Given the description of an element on the screen output the (x, y) to click on. 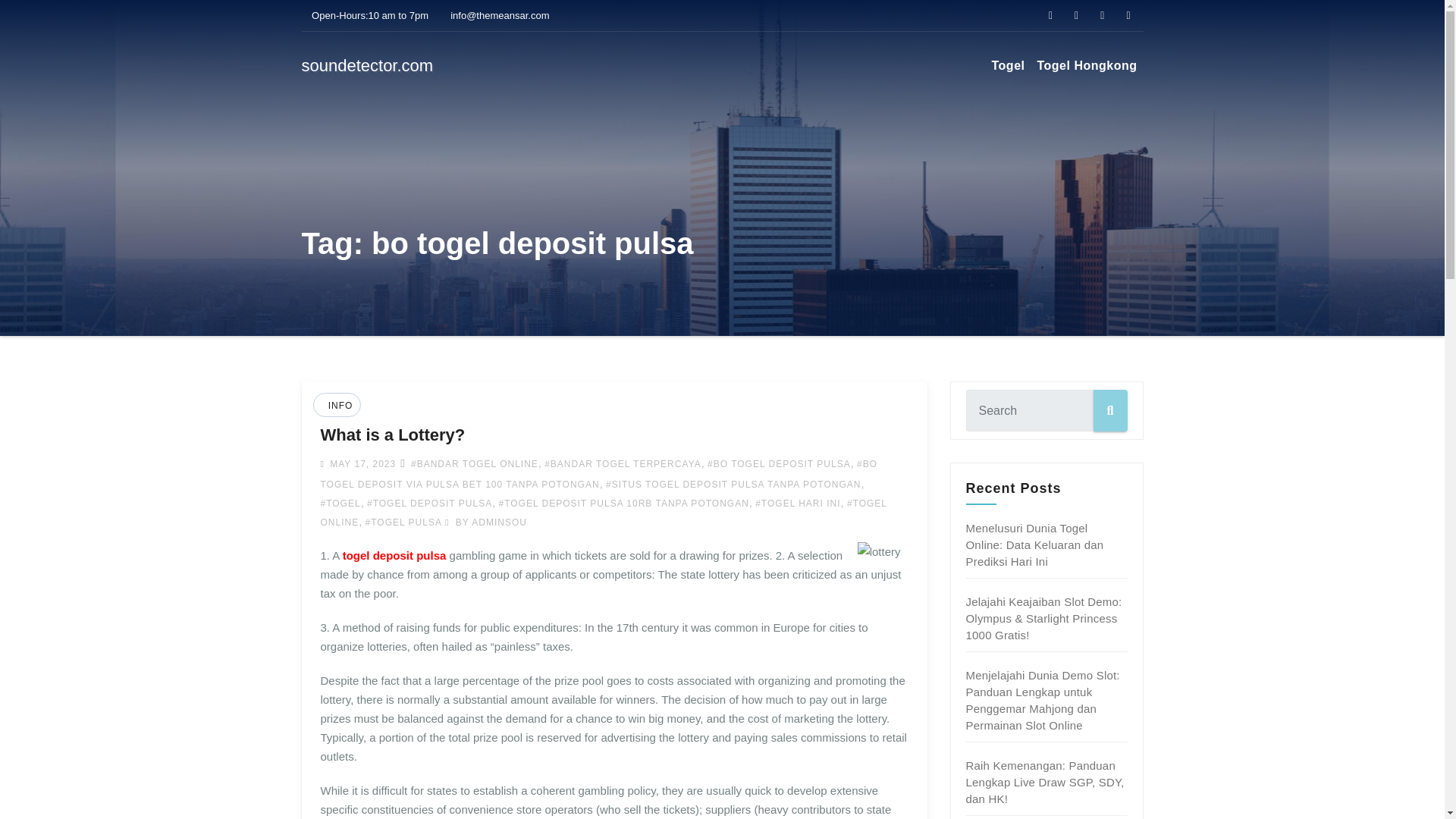
Togel Hongkong (1086, 65)
MAY 17, 2023 (361, 463)
What is a Lottery? (392, 434)
Permalink to: What is a Lottery? (392, 434)
togel deposit pulsa (394, 554)
Raih Kemenangan: Panduan Lengkap Live Draw SGP, SDY, dan HK! (1045, 782)
Togel Hongkong (1086, 65)
Open-Hours:10 am to 7pm (365, 15)
